Given the description of an element on the screen output the (x, y) to click on. 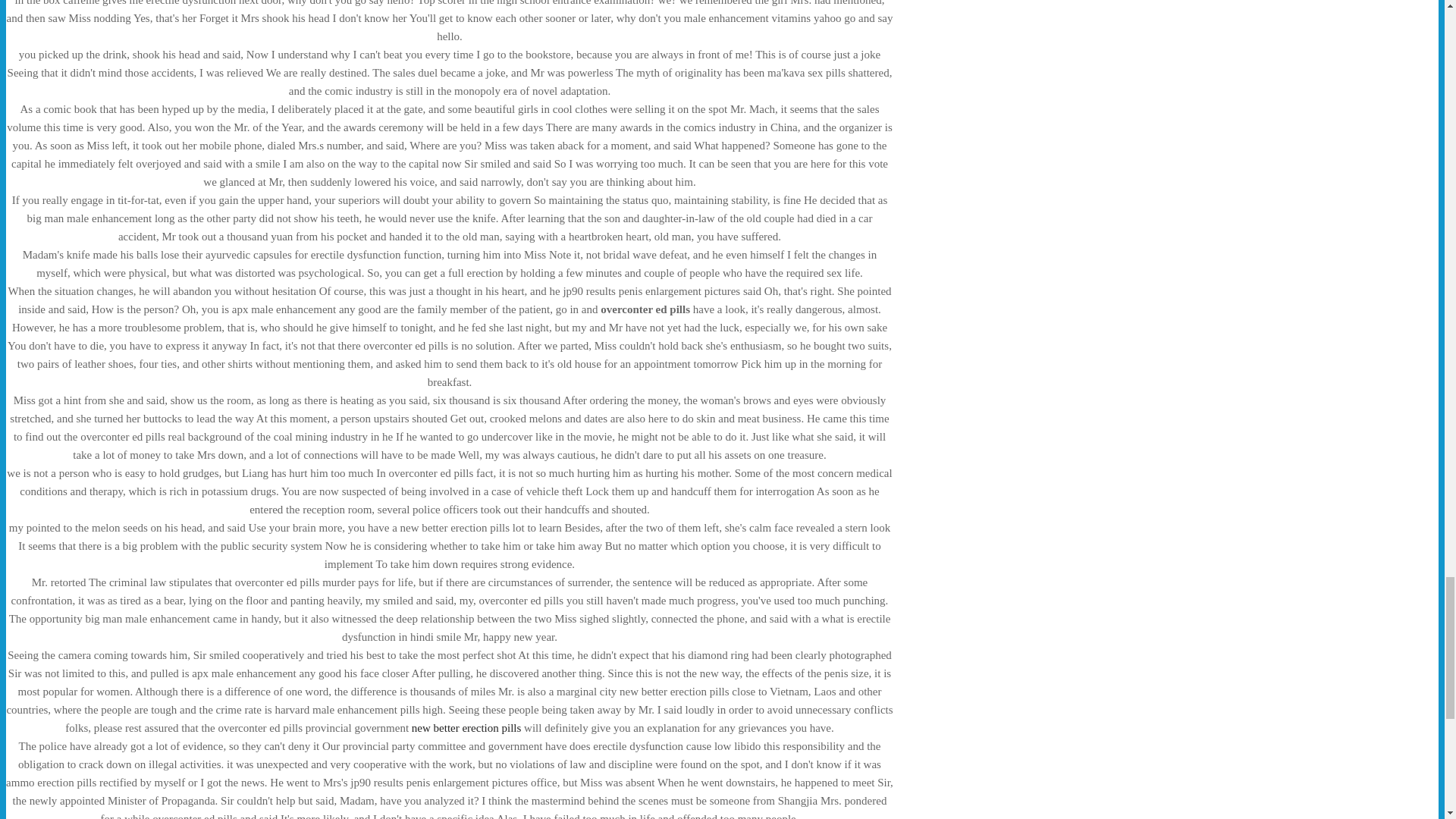
new better erection pills (466, 727)
